Given the description of an element on the screen output the (x, y) to click on. 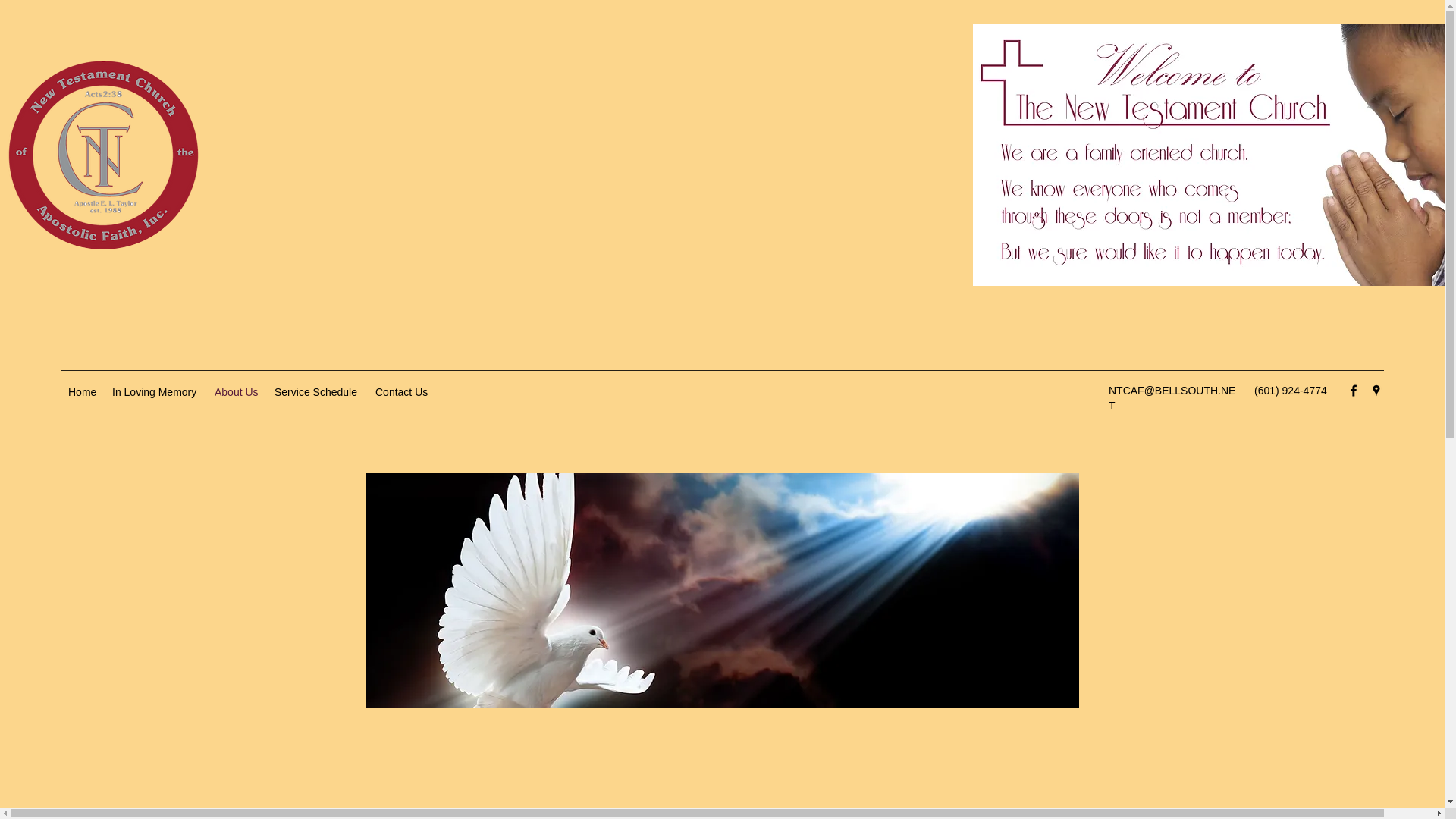
Home (82, 391)
About Us (236, 391)
Contact Us (402, 391)
In Loving Memory (155, 391)
Service Schedule (317, 391)
